Given the description of an element on the screen output the (x, y) to click on. 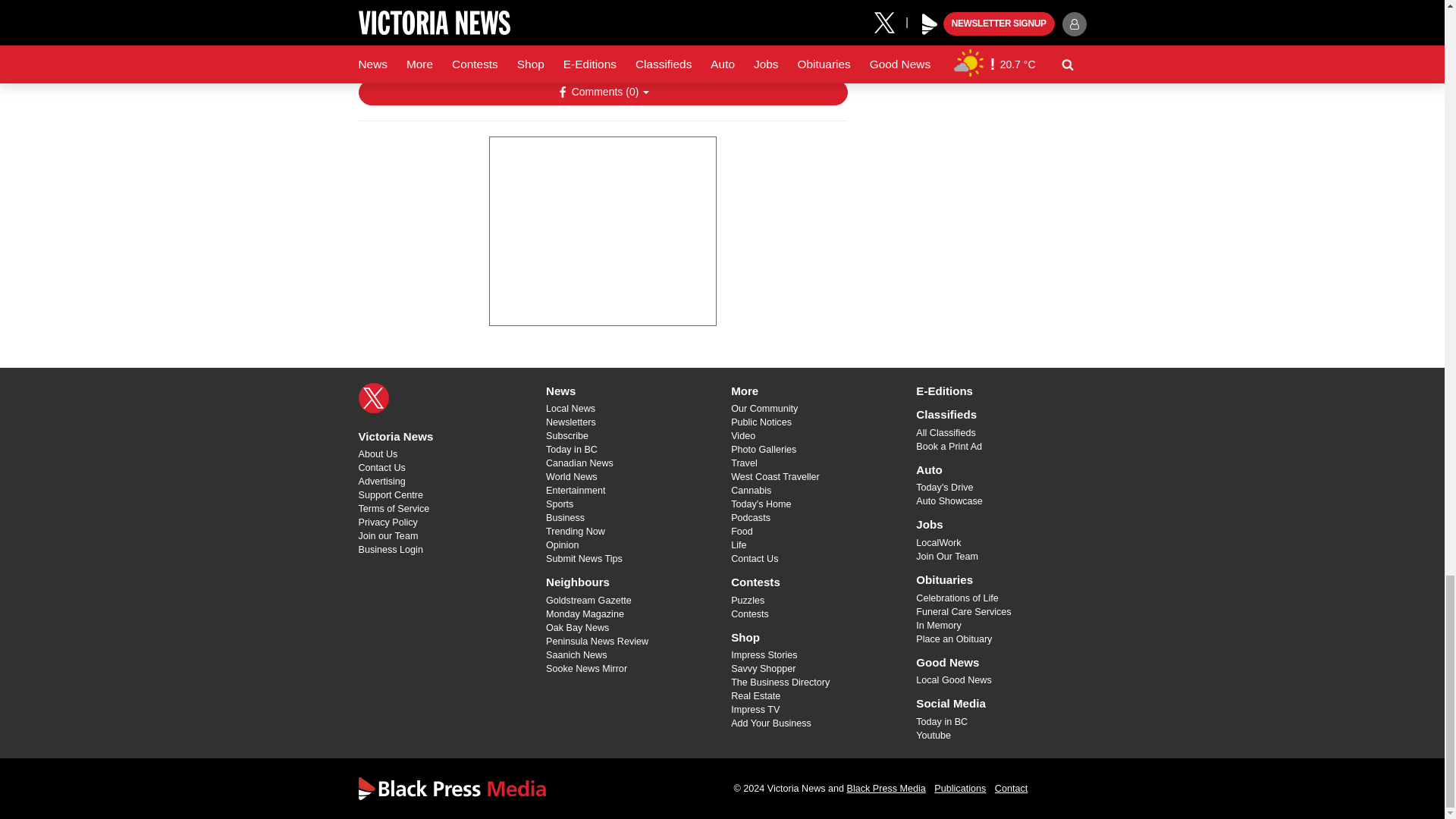
X (373, 398)
Show Comments (602, 92)
3rd party ad content (602, 230)
